Given the description of an element on the screen output the (x, y) to click on. 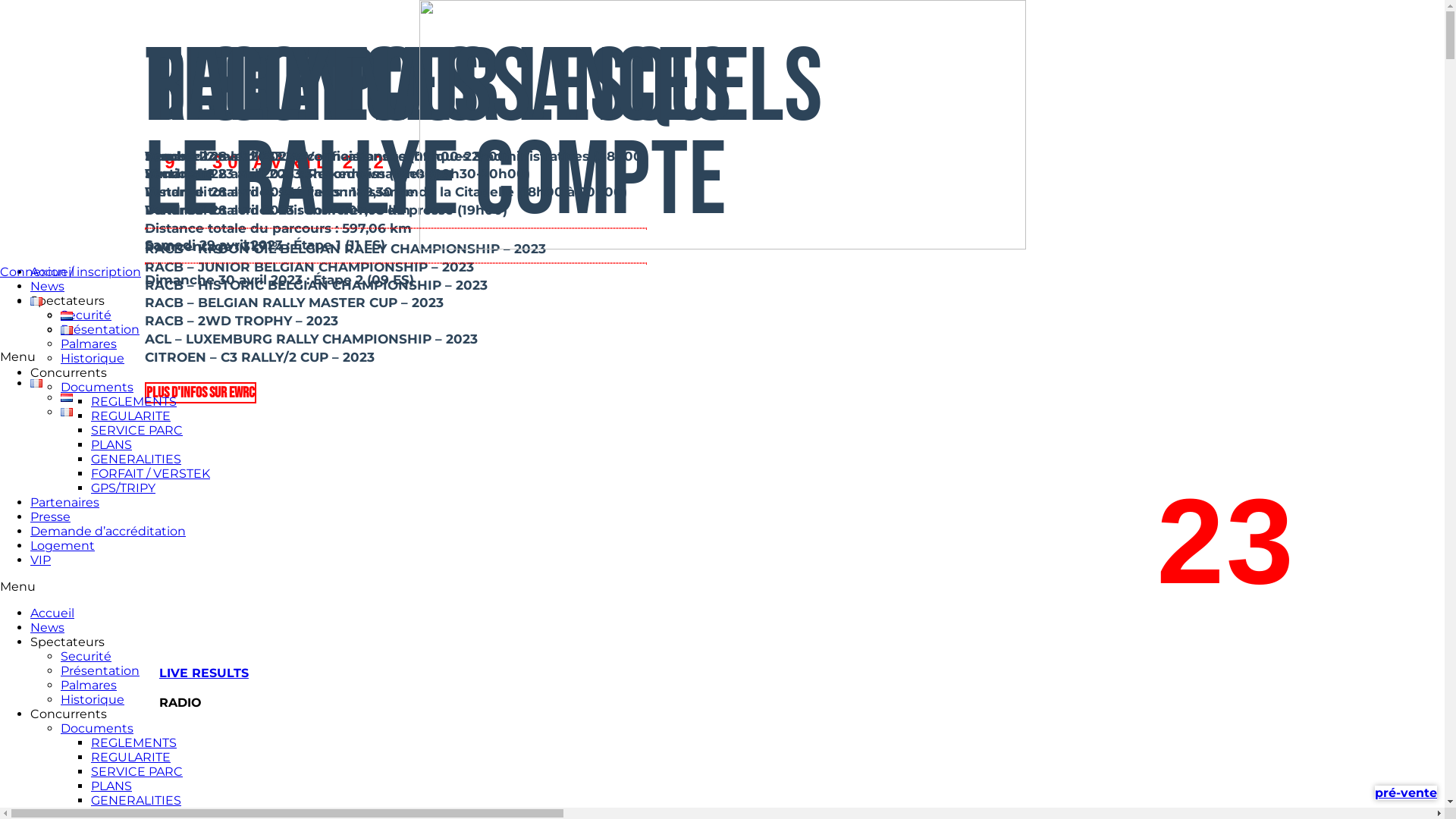
REGLEMENTS Element type: text (133, 401)
Historique Element type: text (92, 358)
SPORTITY VHRS Element type: text (200, 791)
SPORTITY BRC Element type: text (196, 761)
REGULARITE Element type: text (130, 415)
Connexion / inscription Element type: text (70, 271)
Documents Element type: text (96, 386)
Presse Element type: text (50, 516)
Spectateurs Element type: text (67, 641)
VIP Element type: text (40, 559)
Accueil Element type: text (52, 271)
REGULARITE Element type: text (130, 756)
Concurrents Element type: text (68, 372)
Logement Element type: text (62, 545)
Spectateurs Element type: text (67, 300)
DIGITAL NOTICE BOARD Element type: text (226, 731)
Accueil Element type: text (52, 612)
News Element type: text (47, 286)
Concurrents Element type: text (68, 713)
Historique Element type: text (92, 699)
LIVE RESULTS Element type: text (198, 672)
SERVICE PARC Element type: text (136, 771)
GENERALITIES Element type: text (136, 458)
FORFAIT / VERSTEK Element type: text (150, 473)
SERVICE PARC Element type: text (136, 430)
Documents Element type: text (96, 728)
REGLEMENTS Element type: text (133, 742)
PLANS Element type: text (111, 785)
PLANS Element type: text (111, 444)
News Element type: text (47, 627)
Partenaires Element type: text (64, 502)
RADIO Element type: text (175, 702)
Palmares Element type: text (88, 343)
Aller au contenu Element type: text (6, 6)
Palmares Element type: text (88, 684)
GENERALITIES Element type: text (136, 800)
GPS/TRIPY Element type: text (123, 487)
